Given the description of an element on the screen output the (x, y) to click on. 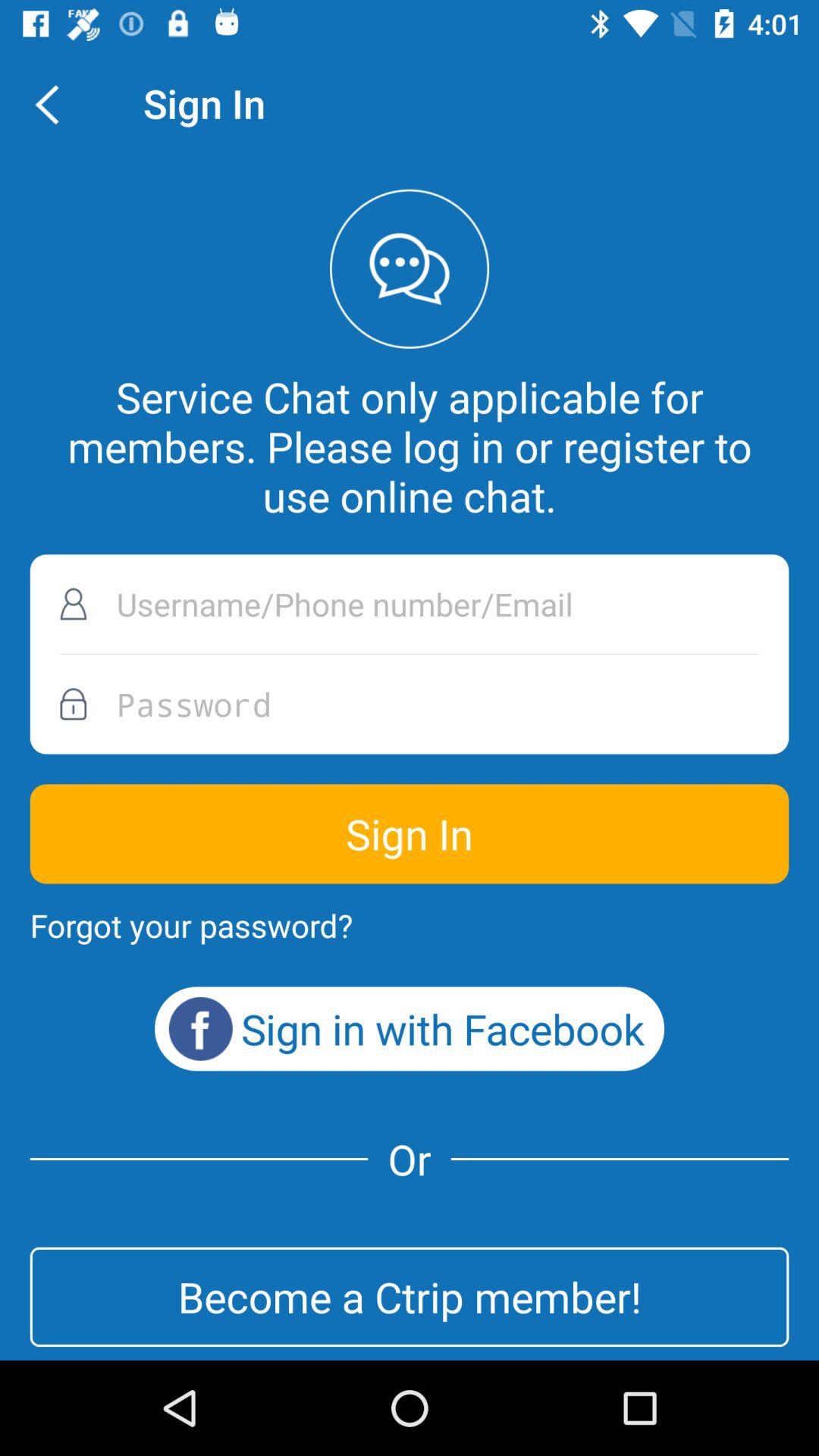
flip until the become a ctrip item (409, 1296)
